Given the description of an element on the screen output the (x, y) to click on. 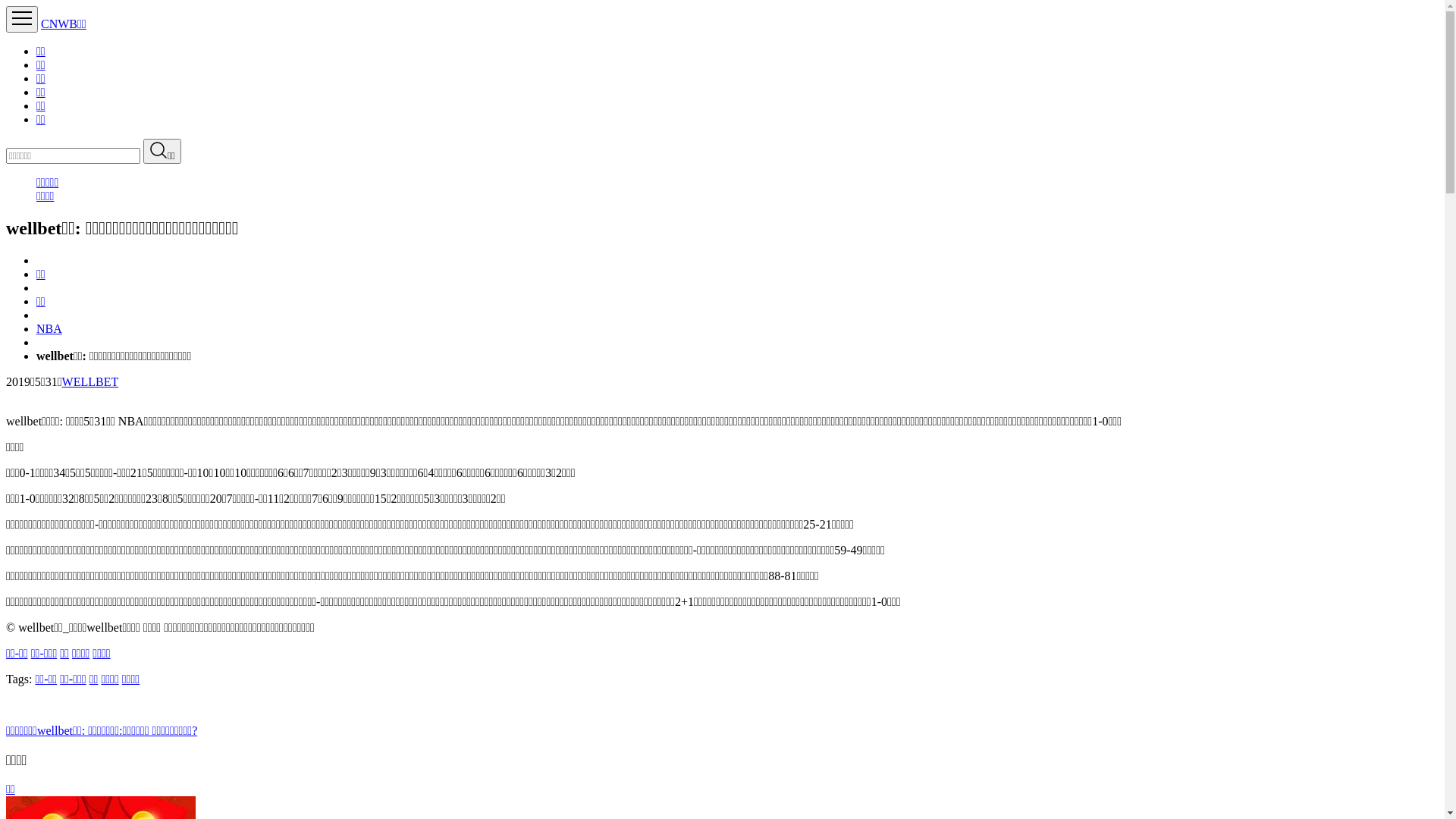
WELLBET Element type: text (90, 381)
NBA Element type: text (49, 328)
